Given the description of an element on the screen output the (x, y) to click on. 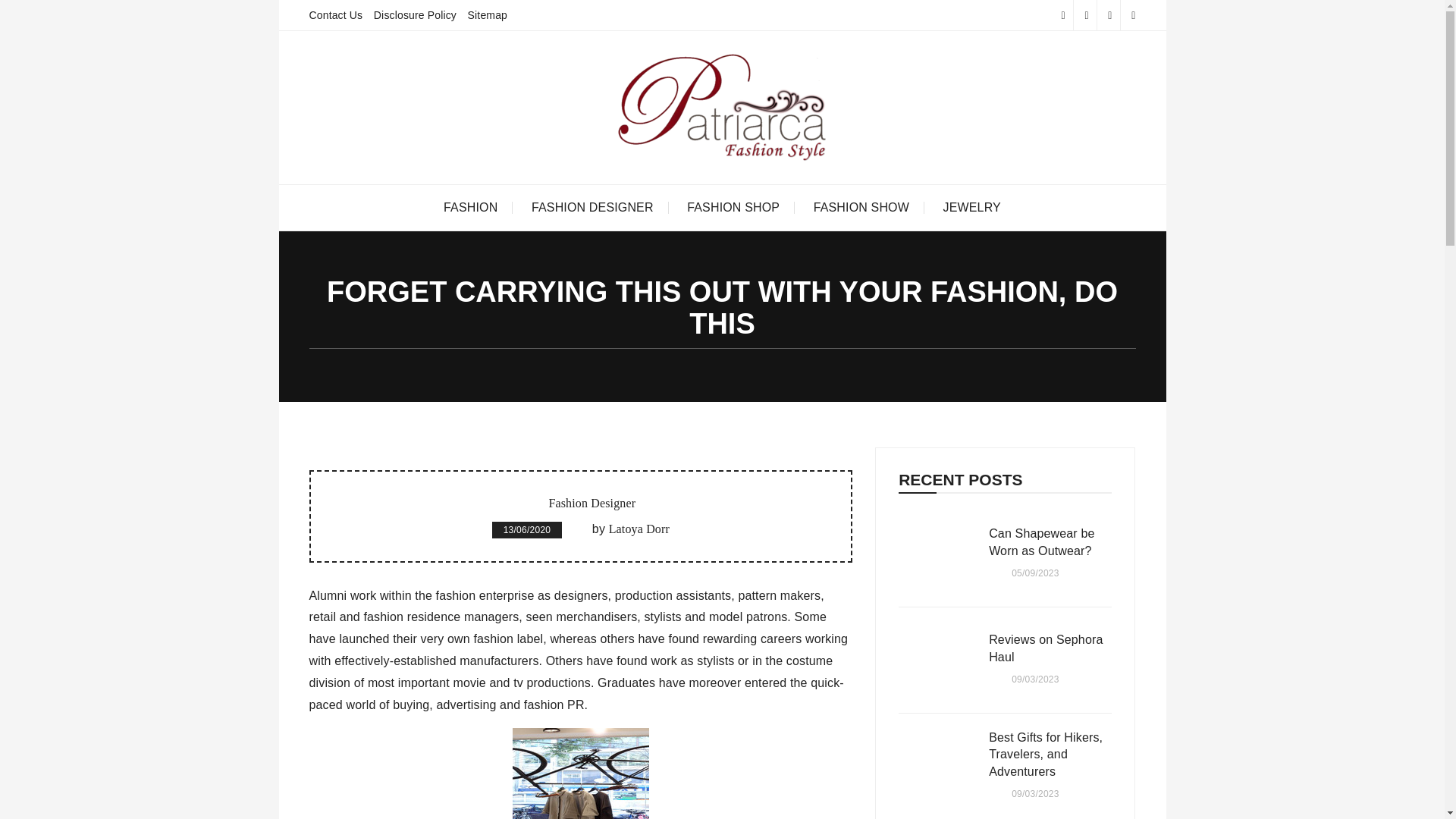
Reviews on Sephora Haul (936, 659)
Best Gifts for Hikers, Travelers, and Adventurers (1050, 756)
Latoya Dorr (638, 529)
FASHION SHOW (860, 207)
JEWELRY (972, 207)
FASHION (470, 207)
Can Shapewear be Worn as Outwear? (936, 553)
Best Gifts for Hikers, Travelers, and Adventurers (936, 765)
Reviews on Sephora Haul (1050, 650)
Disclosure Policy (415, 15)
Sitemap (486, 15)
Forget Carrying This Out with your Fashion, Do This (580, 773)
Fashion Designer (591, 503)
FASHION DESIGNER (592, 207)
Can Shapewear be Worn as Outwear? (1050, 544)
